Given the description of an element on the screen output the (x, y) to click on. 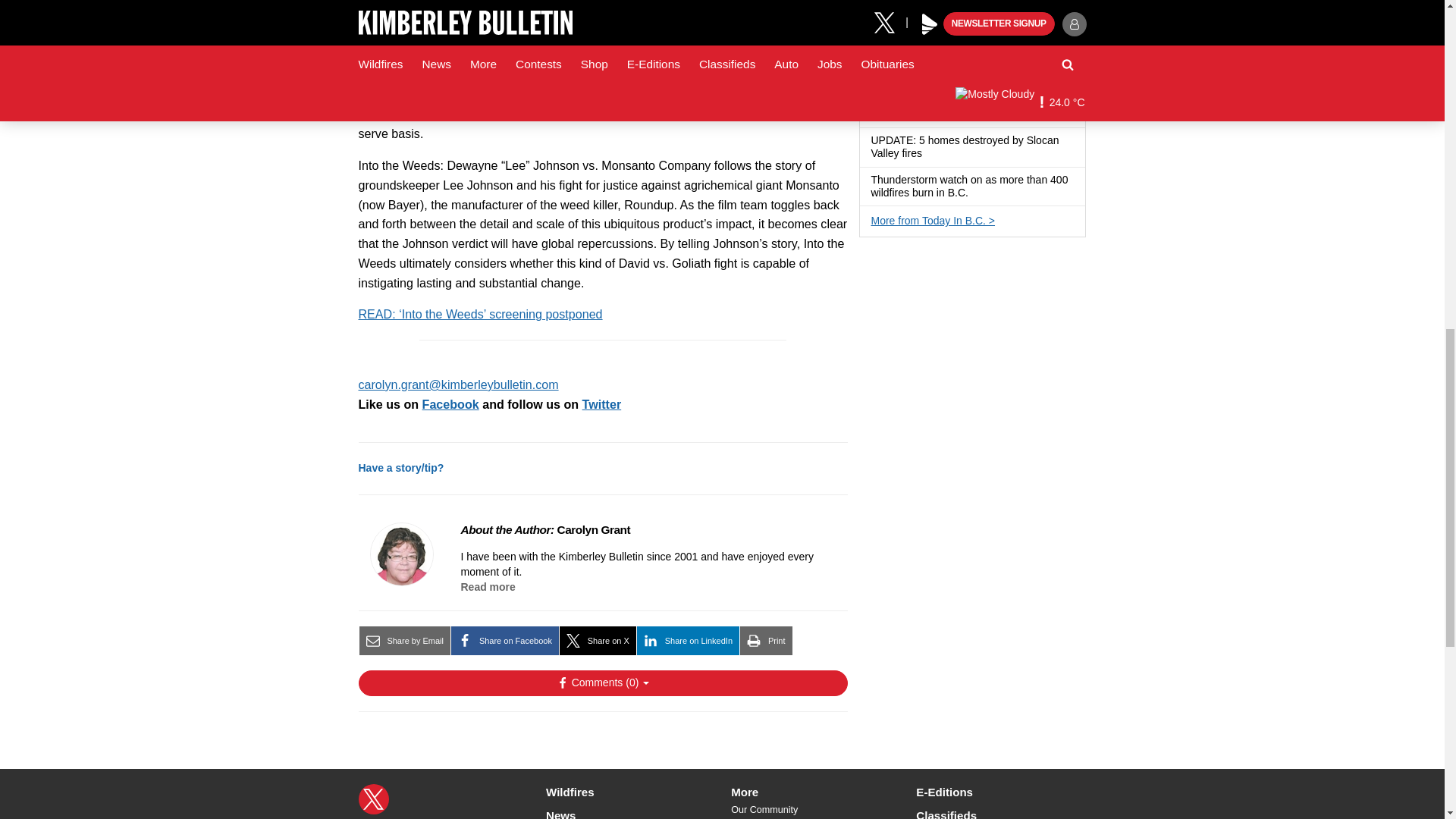
Has a gallery (1000, 114)
Show Comments (602, 683)
X (373, 798)
